Given the description of an element on the screen output the (x, y) to click on. 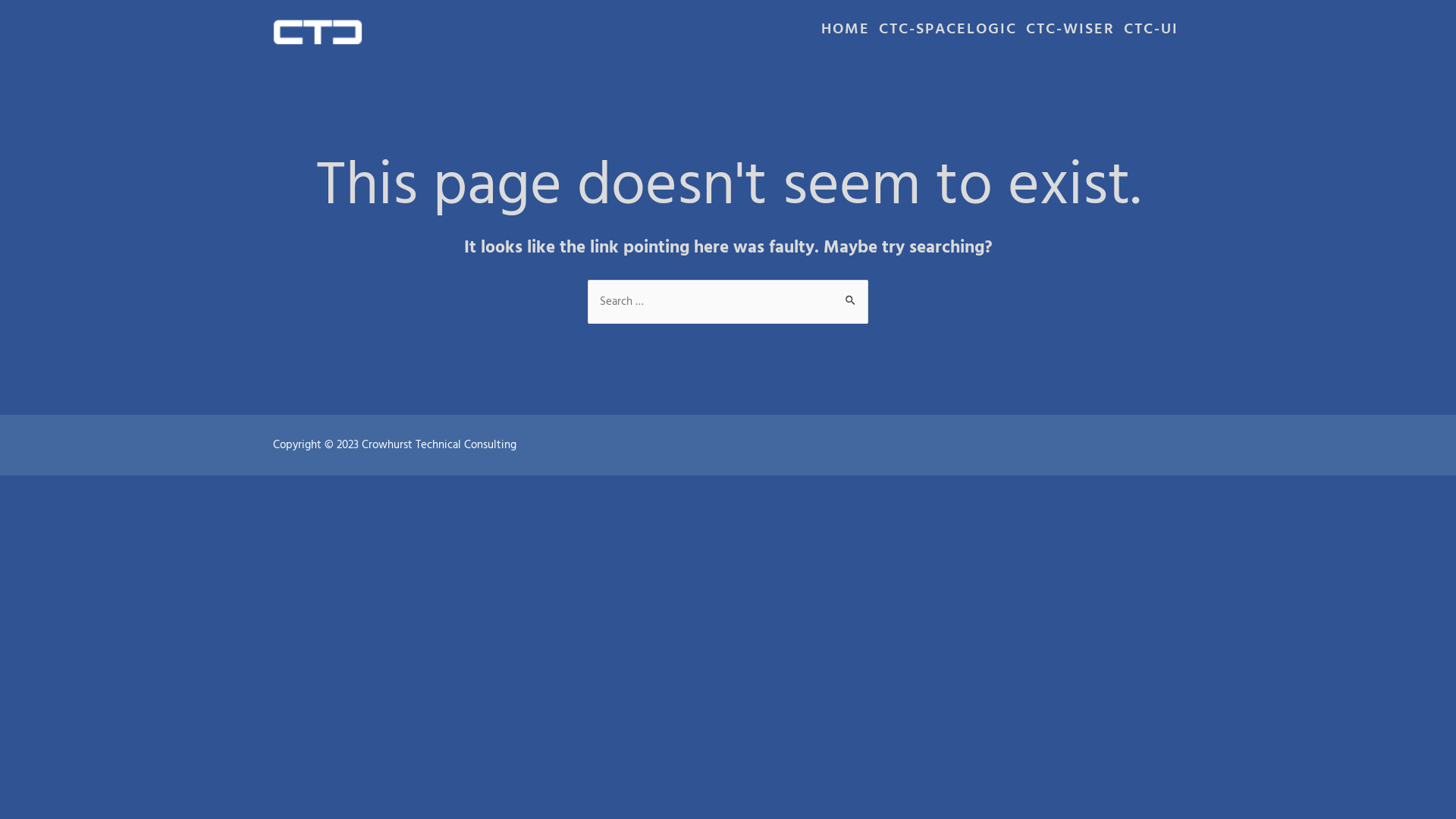
HOME Element type: text (845, 34)
Search Element type: text (851, 294)
CTC-UI Element type: text (1151, 34)
CTC-WISER Element type: text (1070, 34)
CTC-SPACELOGIC Element type: text (947, 34)
